Given the description of an element on the screen output the (x, y) to click on. 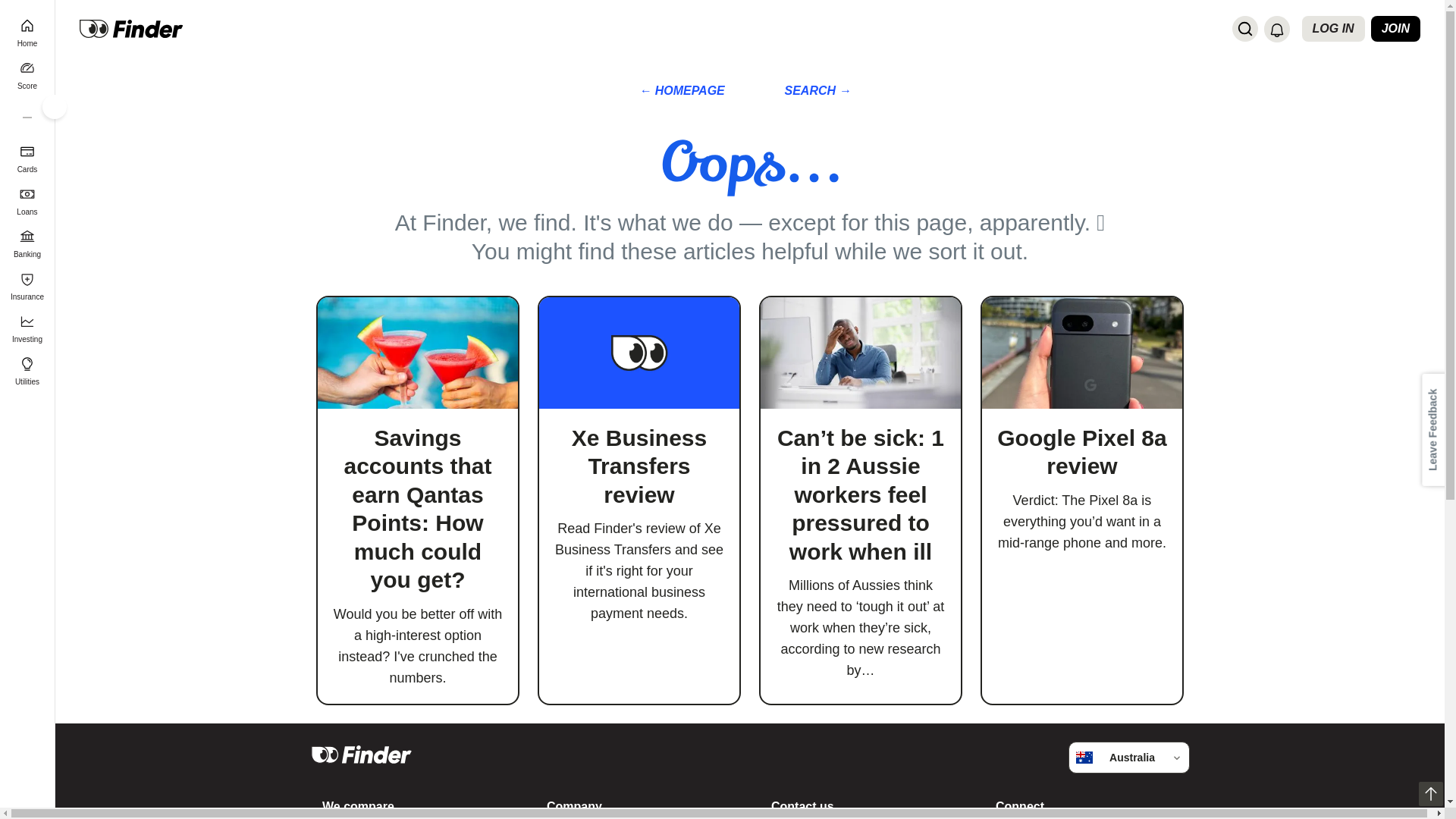
Back to Top (1430, 793)
